Given the description of an element on the screen output the (x, y) to click on. 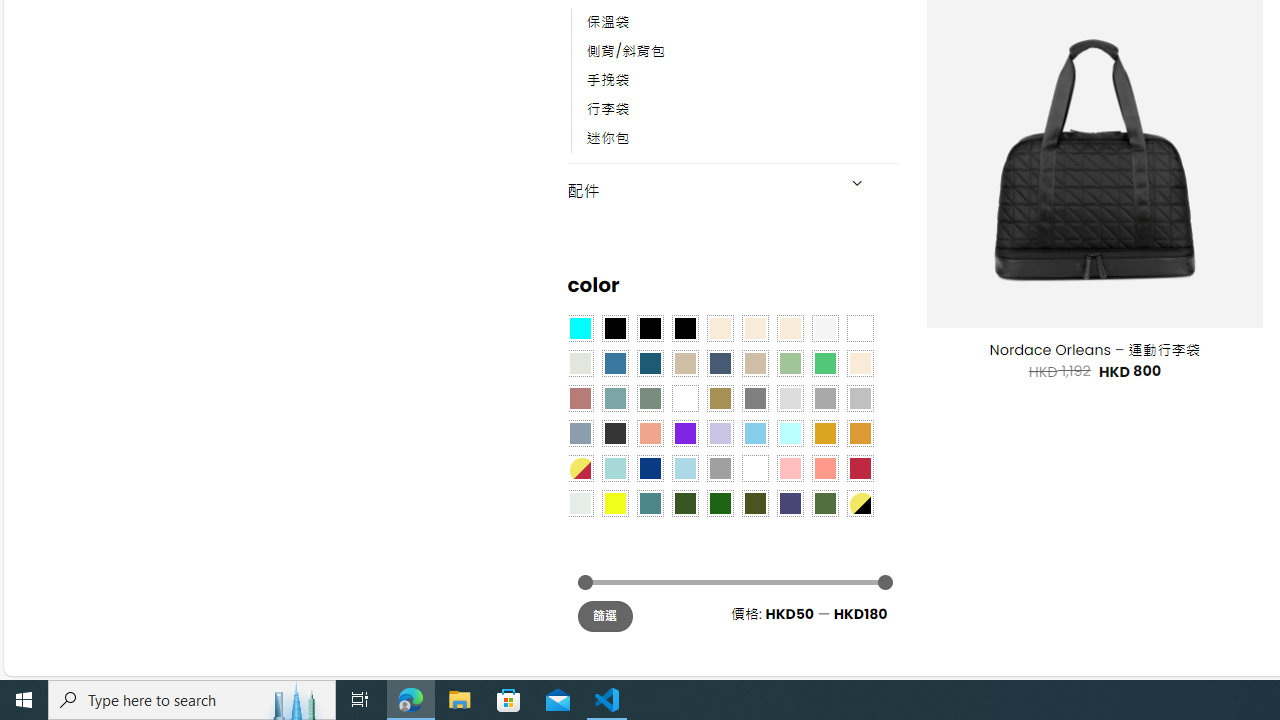
Cream (789, 328)
